Given the description of an element on the screen output the (x, y) to click on. 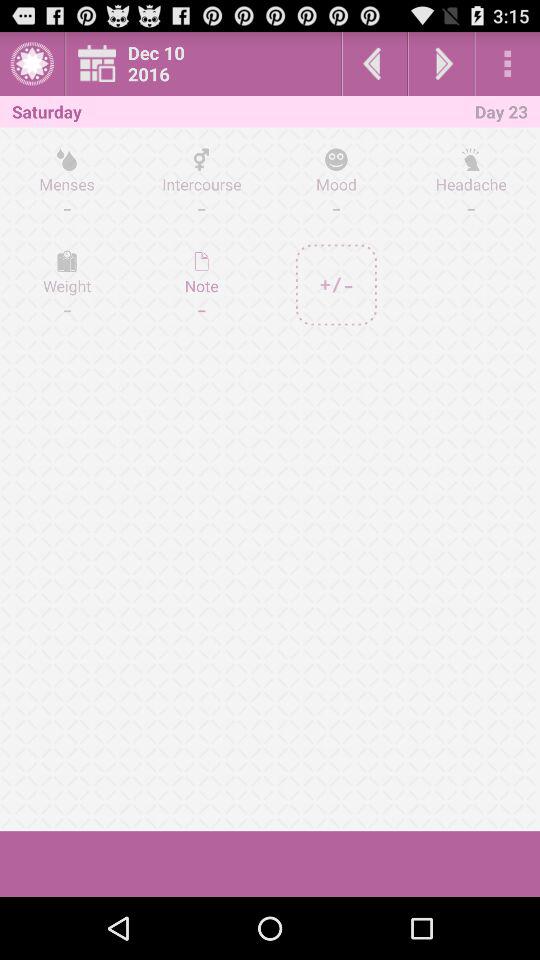
menu (507, 63)
